Given the description of an element on the screen output the (x, y) to click on. 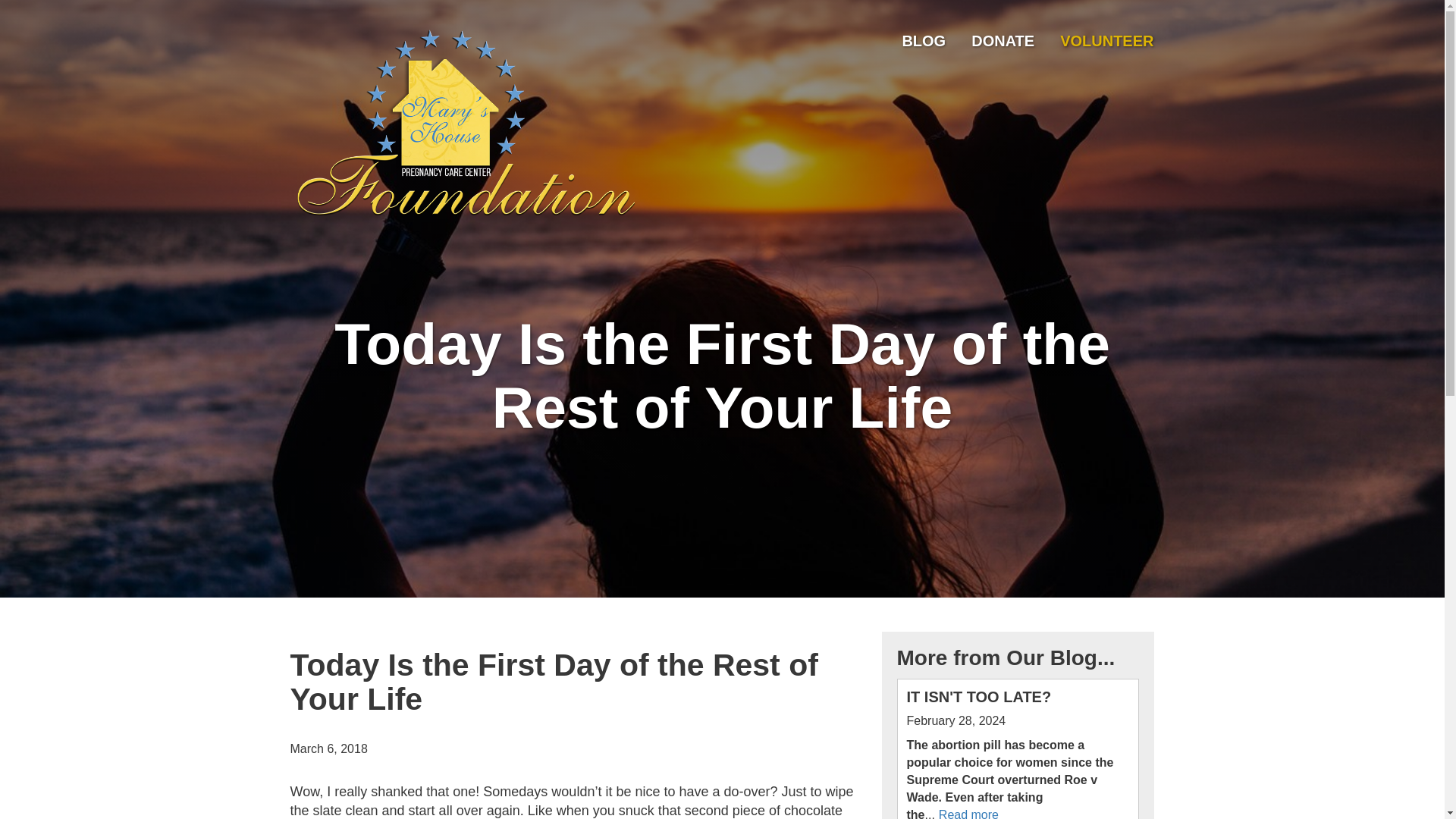
IT ISN'T TOO LATE? (979, 696)
Read more (968, 813)
VOLUNTEER (1106, 40)
BLOG (923, 40)
DONATE (1002, 40)
Home (464, 123)
Mary's House of LA Foundation (388, 334)
